Given the description of an element on the screen output the (x, y) to click on. 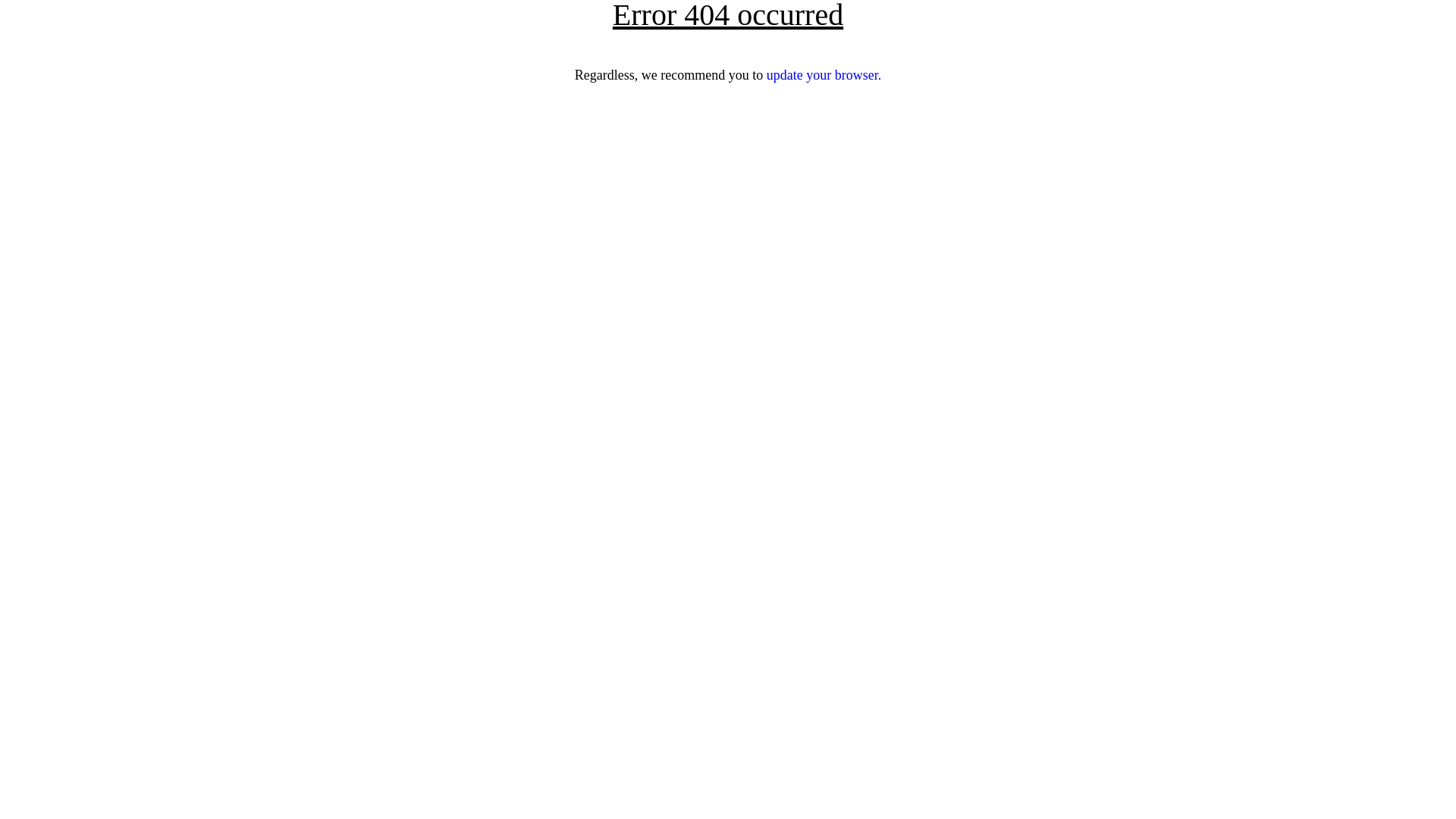
update your browser. Element type: text (823, 74)
